Given the description of an element on the screen output the (x, y) to click on. 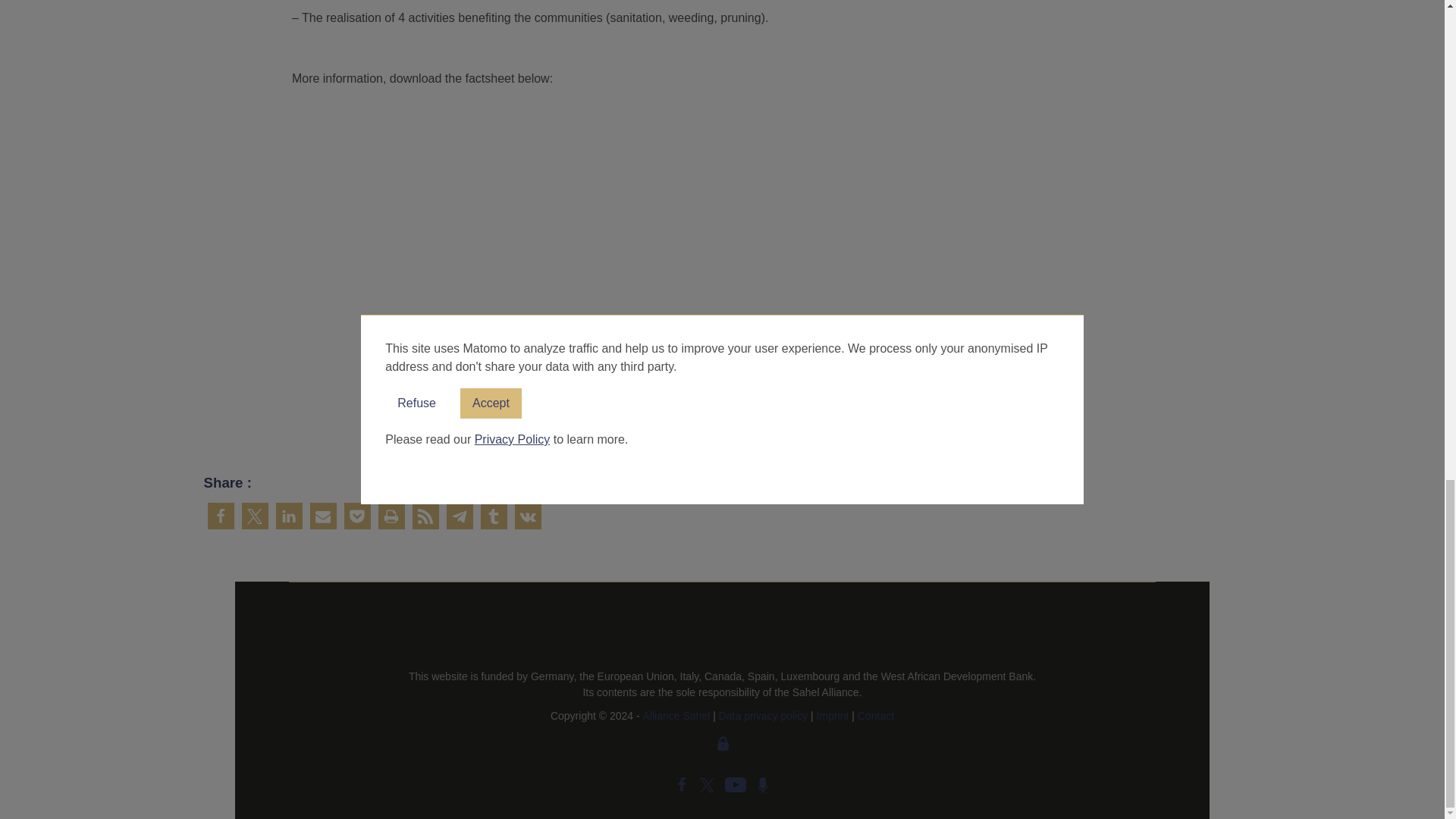
RSS feed (425, 515)
Save to Pocket (357, 515)
Imprint (832, 715)
Alliance Sahel (676, 715)
Share on VK (526, 515)
Send by email (322, 515)
Data privacy policy (763, 715)
Share on tumblr (493, 515)
Share on LinkedIn (289, 515)
Share on Telegram (458, 515)
